Given the description of an element on the screen output the (x, y) to click on. 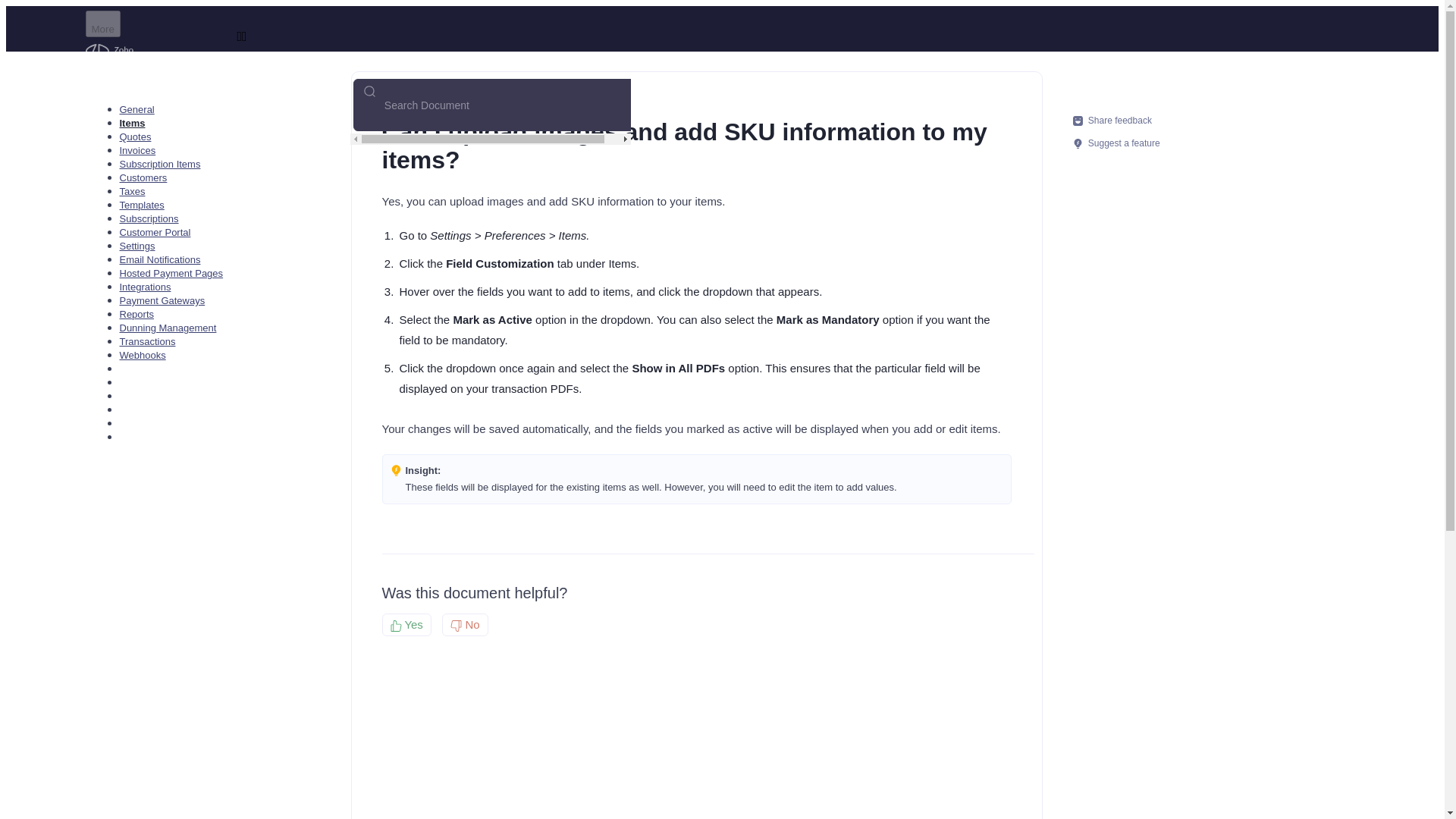
Integrations (145, 286)
Suggest a feature (1114, 142)
Templates (141, 204)
Hosted Payment Pages (171, 272)
Payment Gateways (162, 300)
General (136, 108)
Transactions (147, 341)
Settings (137, 245)
Share feedback (1114, 119)
Taxes (132, 190)
Items (132, 122)
Quotes (135, 136)
More (101, 23)
Customer Portal (154, 231)
Invoices (137, 149)
